Given the description of an element on the screen output the (x, y) to click on. 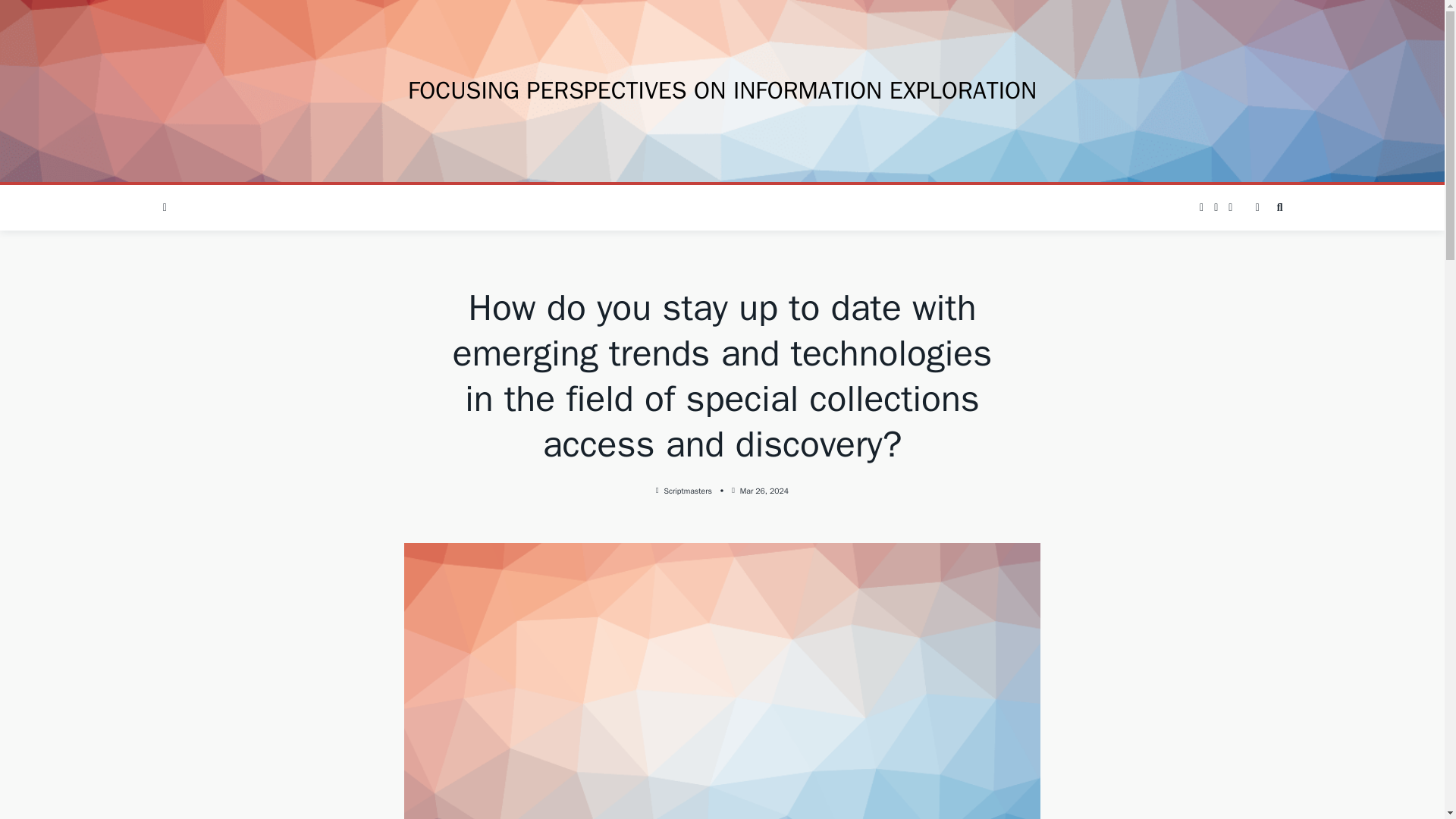
Scriptmasters (687, 491)
Mar 26, 2024 (764, 491)
FOCUSING PERSPECTIVES ON INFORMATION EXPLORATION (721, 90)
